Given the description of an element on the screen output the (x, y) to click on. 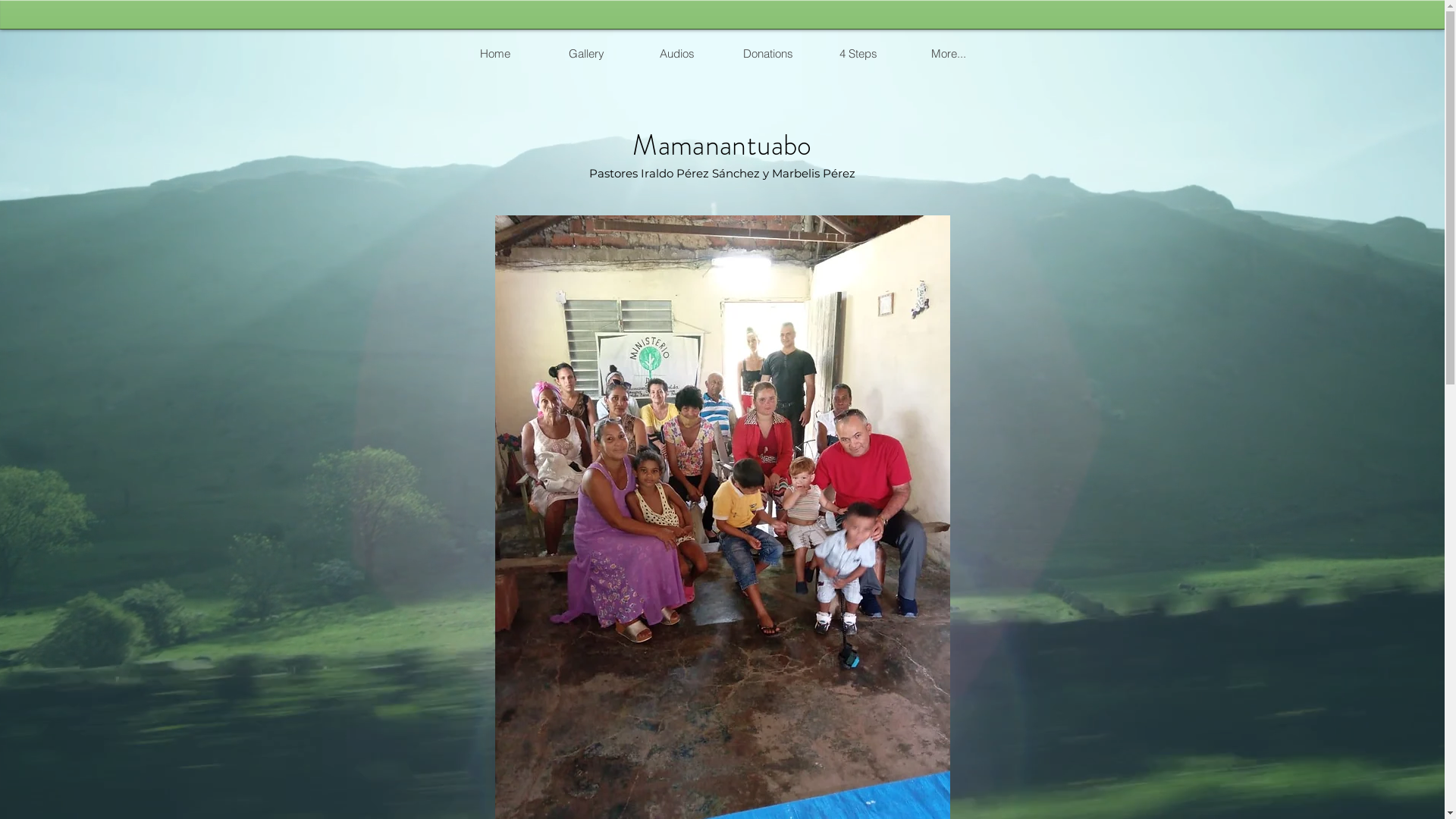
Home Element type: text (493, 53)
4 Steps Element type: text (857, 53)
Gallery Element type: text (584, 53)
Donations Element type: text (766, 53)
Audios Element type: text (675, 53)
